Given the description of an element on the screen output the (x, y) to click on. 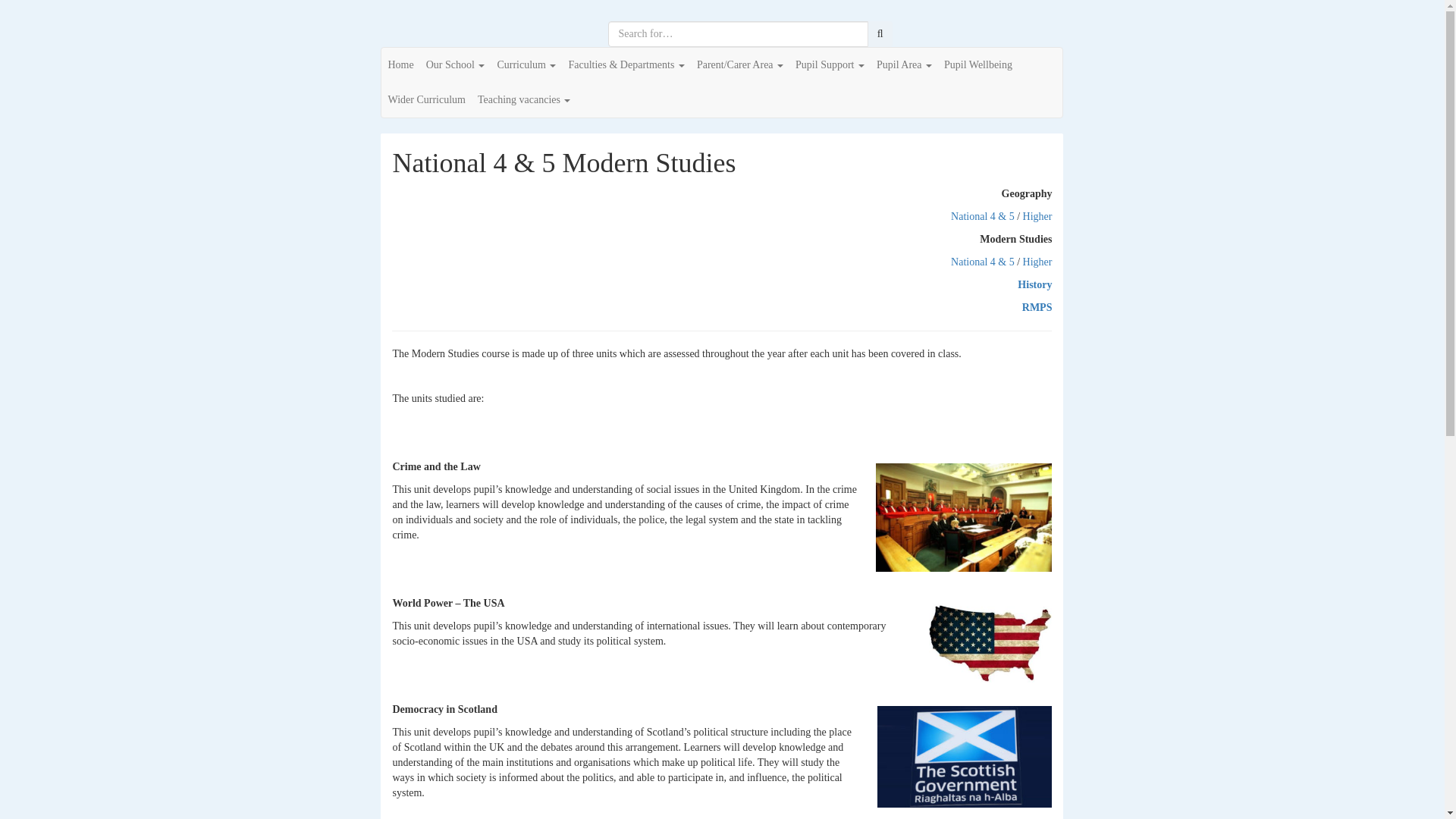
Curriculum (526, 64)
Curriculum (526, 64)
Our School (456, 64)
Home (400, 64)
Home (400, 64)
Our School (456, 64)
